Given the description of an element on the screen output the (x, y) to click on. 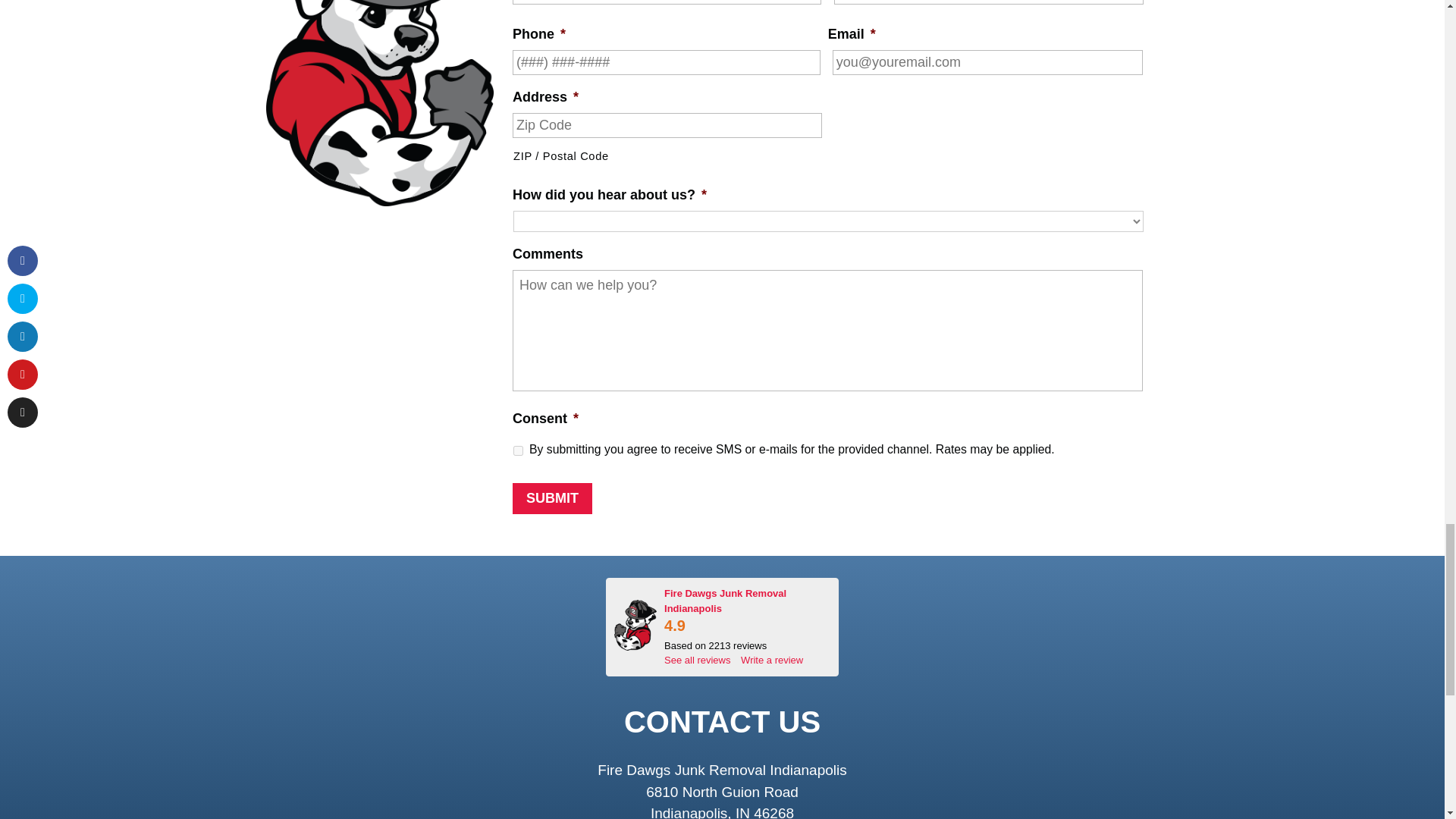
Fire Dawgs Junk Removal logo (635, 624)
Submit (552, 498)
